Given the description of an element on the screen output the (x, y) to click on. 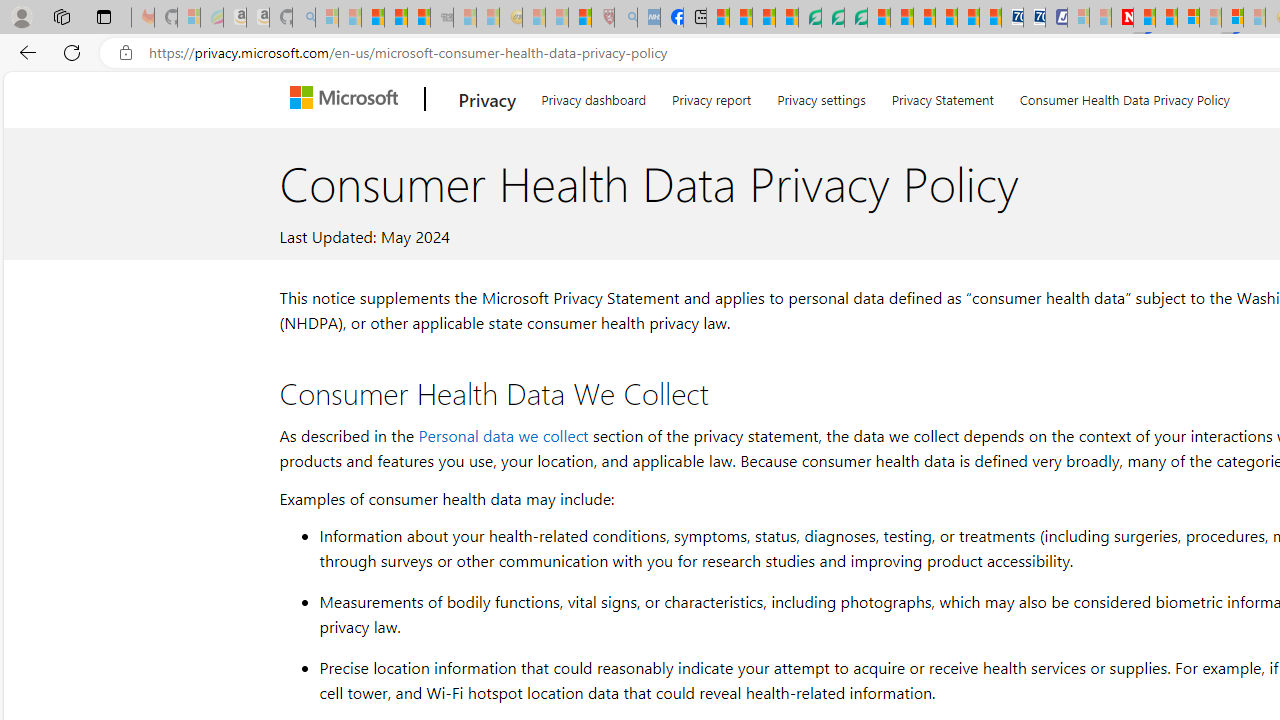
Privacy report (712, 96)
New Report Confirms 2023 Was Record Hot | Watch (419, 17)
Privacy dashboard (593, 96)
Privacy settings (821, 96)
Privacy Statement (942, 96)
Terms of Use Agreement (832, 17)
